Given the description of an element on the screen output the (x, y) to click on. 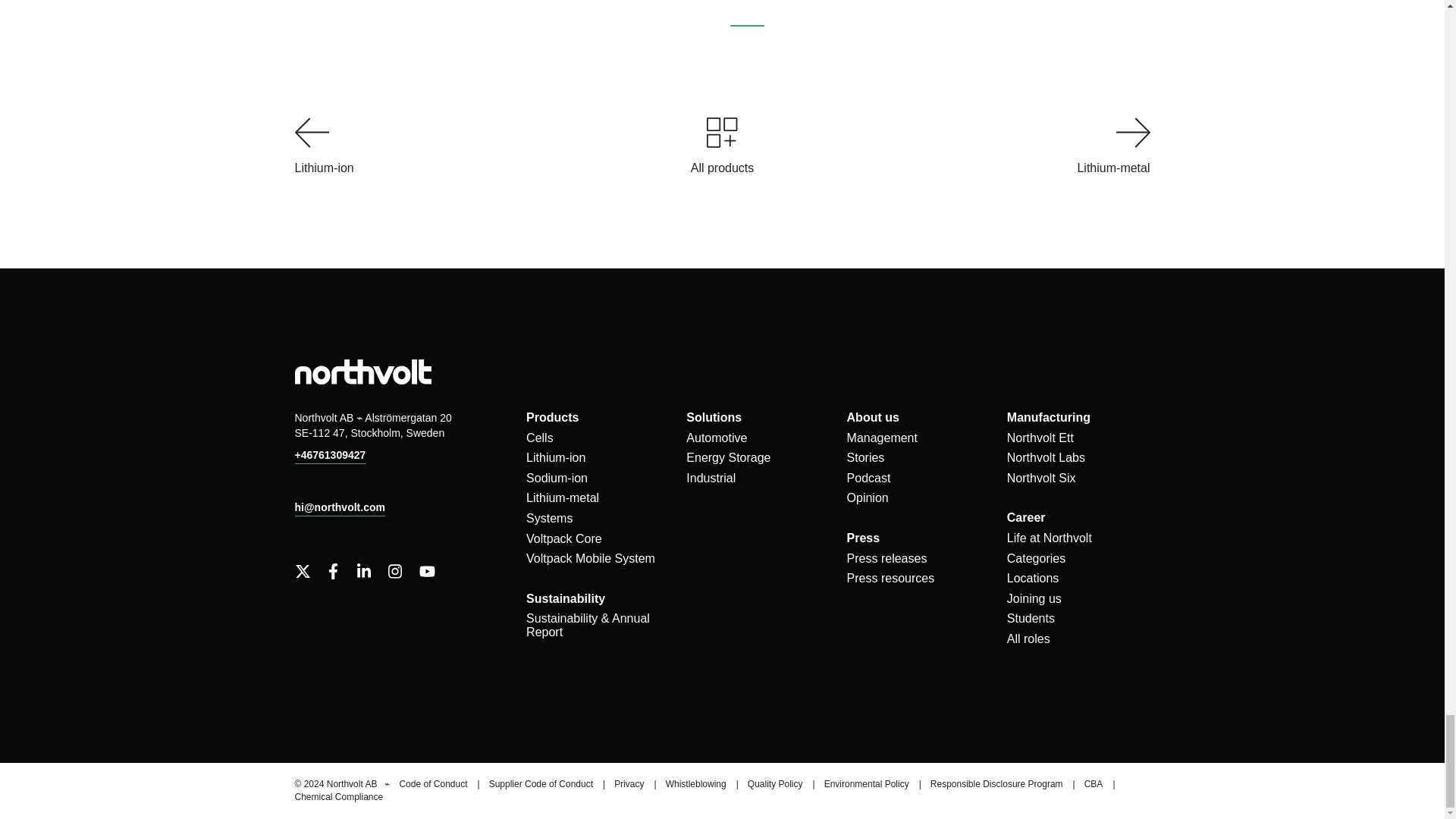
Lithium-ion (492, 146)
All products (722, 146)
Lithium-metal (952, 146)
